Given the description of an element on the screen output the (x, y) to click on. 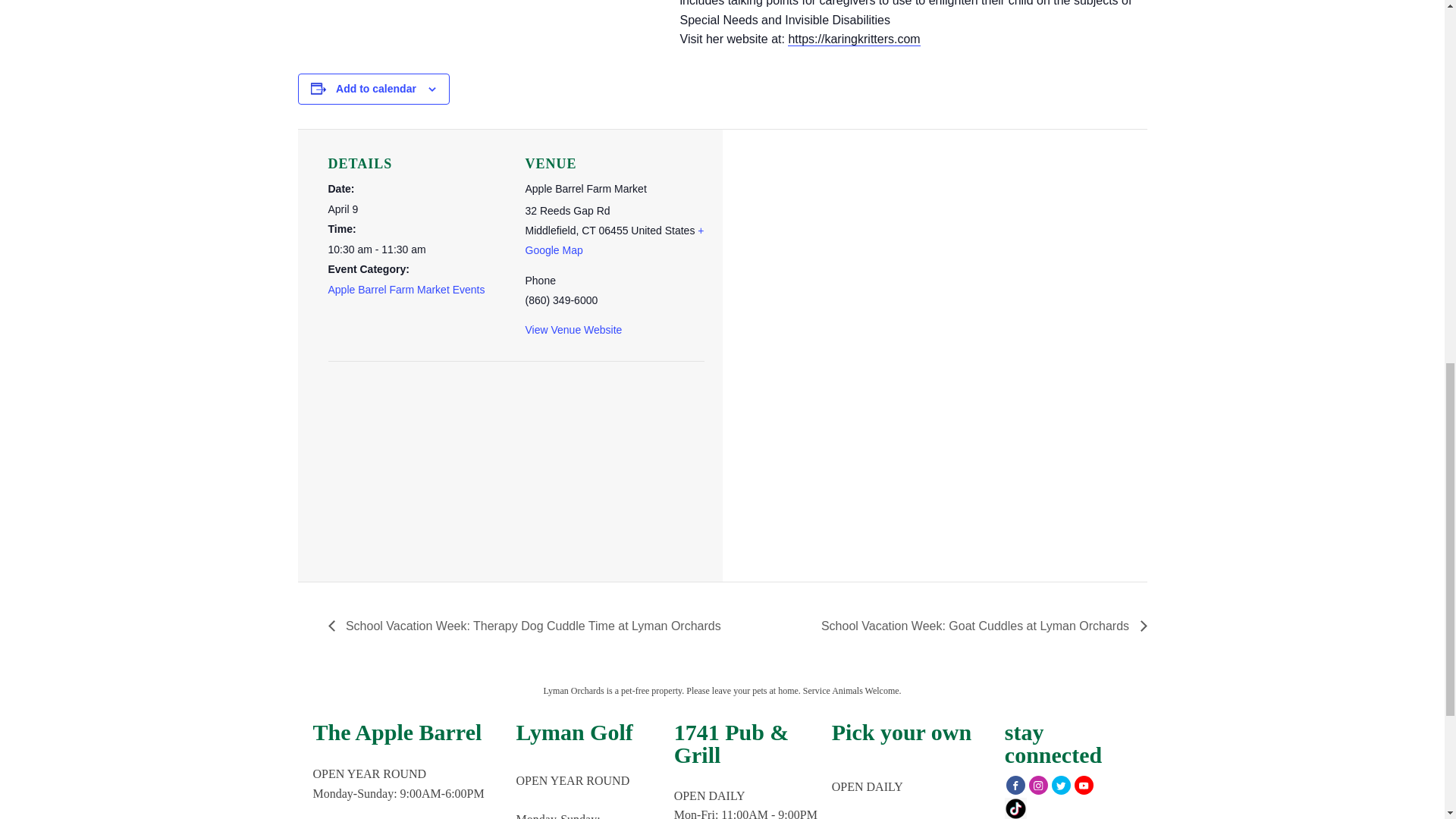
Connecticut (587, 230)
Click to view a Google Map (613, 240)
2024-04-09 (342, 209)
2024-04-09 (416, 248)
